Given the description of an element on the screen output the (x, y) to click on. 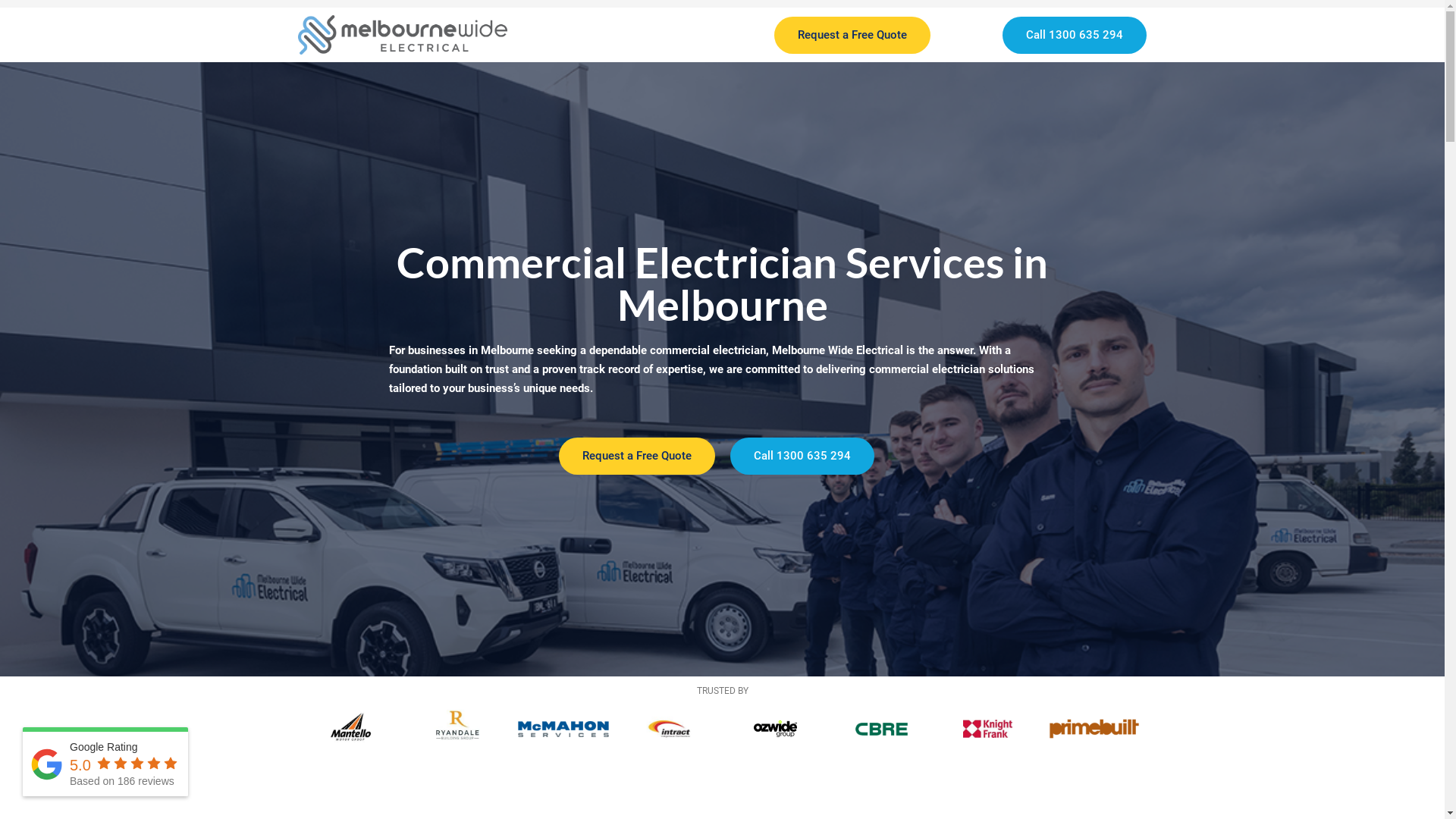
Request a Free Quote Element type: text (852, 34)
Call 1300 635 294 Element type: text (1074, 34)
Call 1300 635 294 Element type: text (801, 455)
Request a Free Quote Element type: text (636, 455)
